Given the description of an element on the screen output the (x, y) to click on. 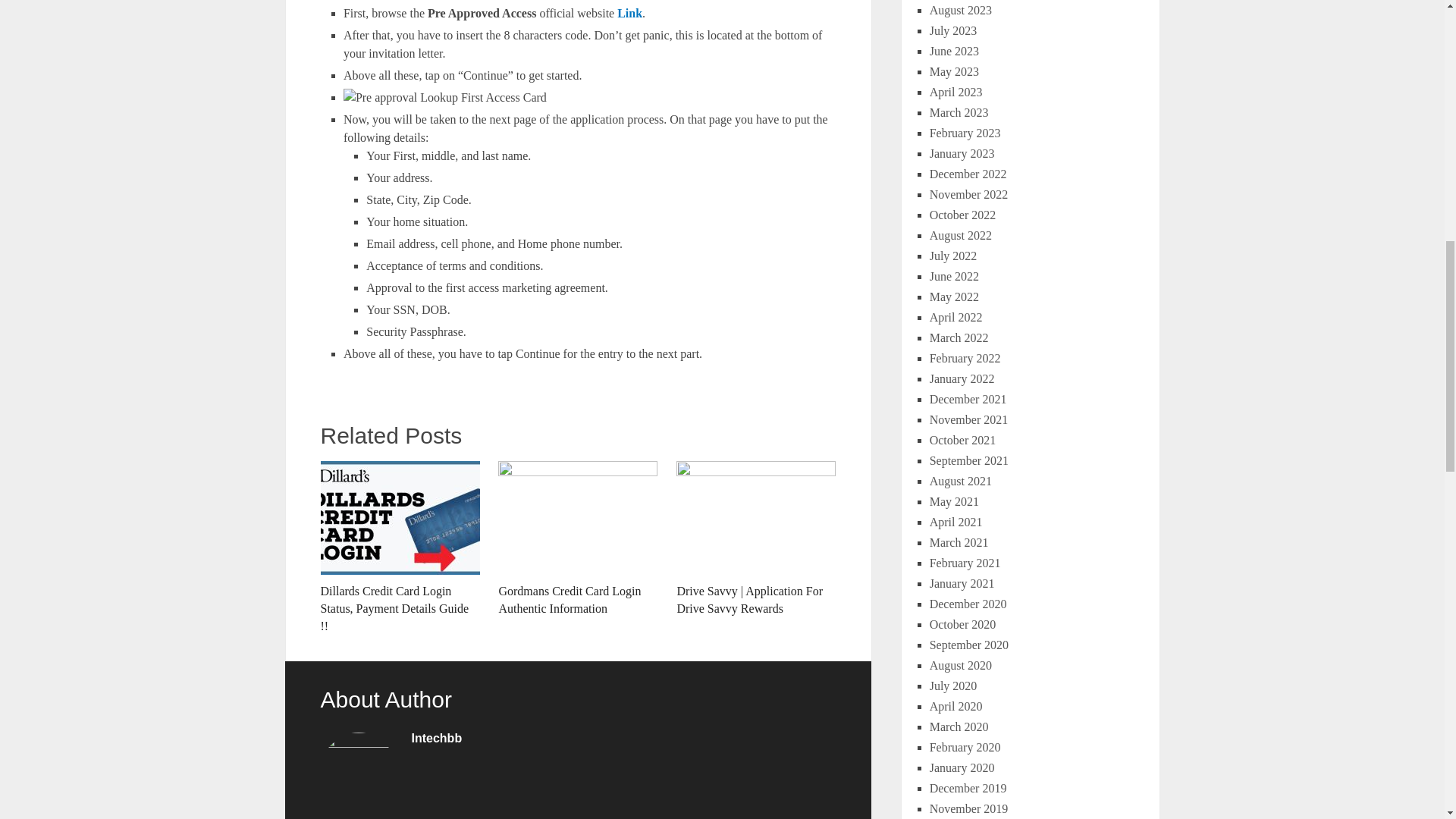
Gordmans Credit Card Login Authentic Information (577, 539)
Dillards Credit Card Login Status, Payment Details Guide !! (399, 547)
Link (629, 12)
Dillards Credit Card Login Status, Payment Details Guide !! (399, 547)
Gordmans Credit Card Login Authentic Information (577, 539)
